Given the description of an element on the screen output the (x, y) to click on. 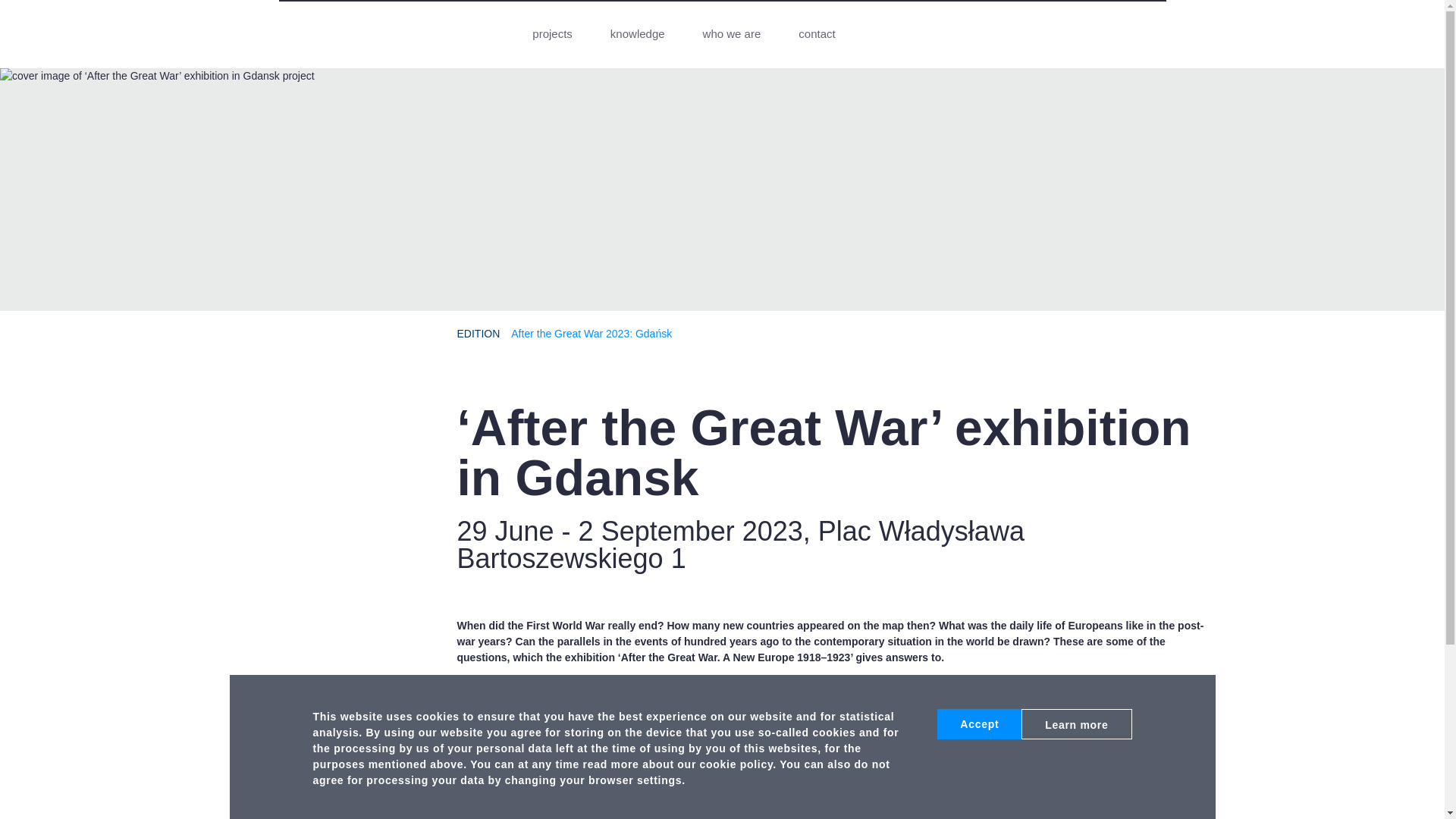
projects (552, 33)
Youth Protection Policy (1087, 657)
Accept (979, 724)
Change font size (1203, 31)
Learn more (1076, 724)
Gender Equality Plan (1083, 736)
European Network Remembrance and Solidarity (283, 35)
contact (815, 33)
Contrast (1168, 31)
